Given the description of an element on the screen output the (x, y) to click on. 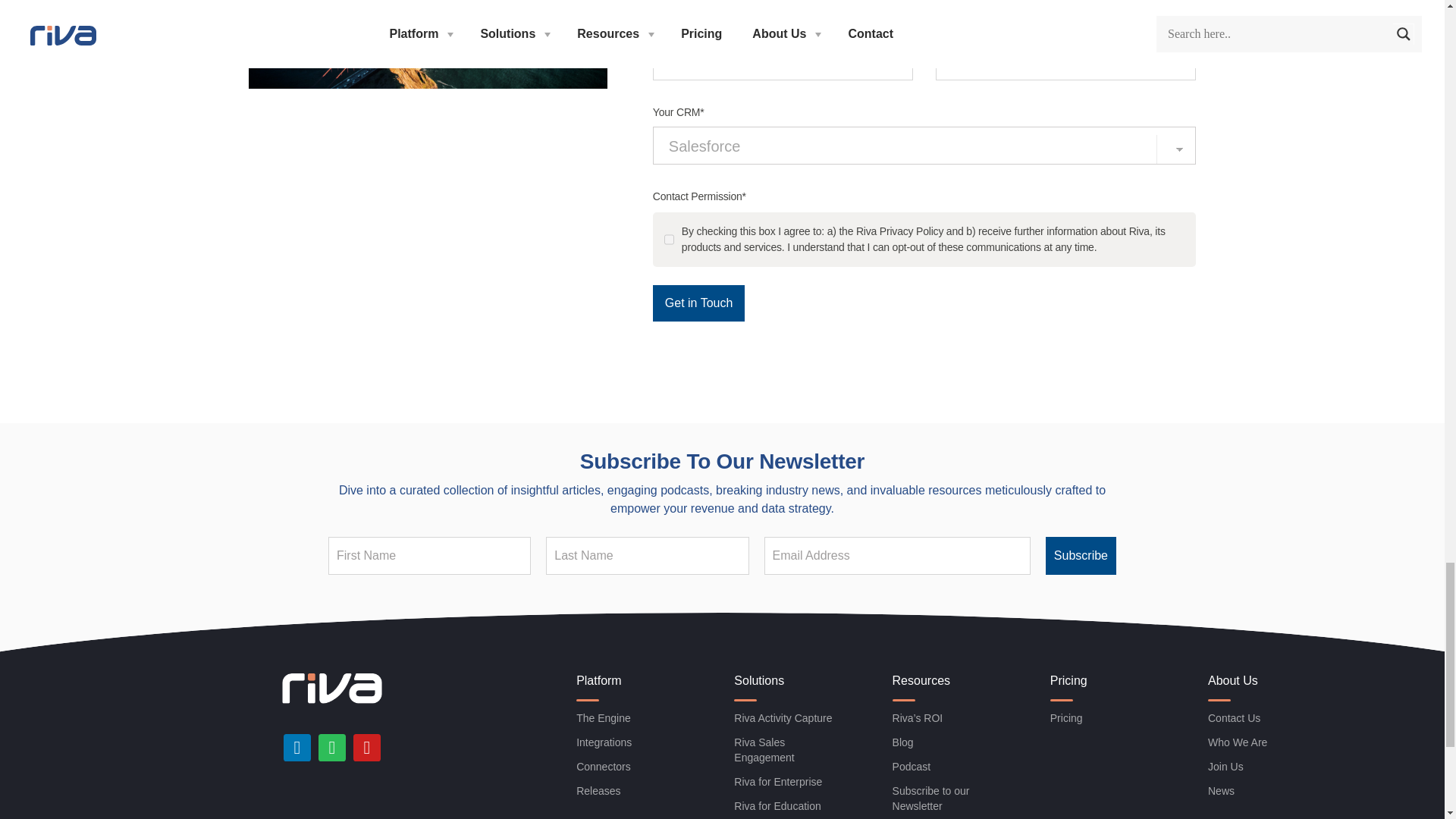
Subscribe (1080, 555)
Get in Touch (698, 303)
YouTube (366, 747)
Subscribe (1080, 555)
LinkedIn (297, 747)
Get in Touch (698, 303)
Spotify (332, 747)
